Given the description of an element on the screen output the (x, y) to click on. 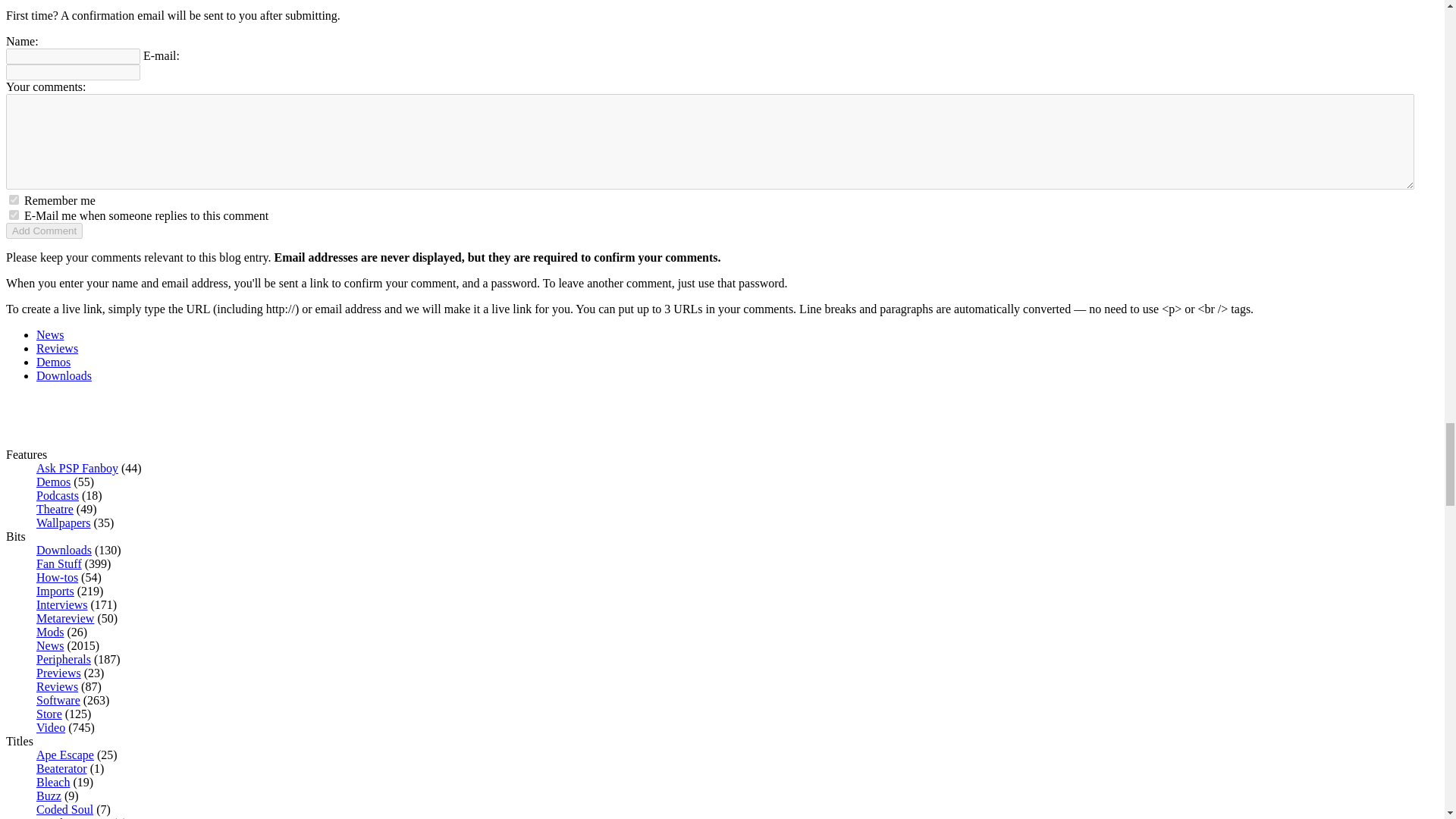
on (13, 214)
Add Comment (43, 230)
on (13, 199)
